Given the description of an element on the screen output the (x, y) to click on. 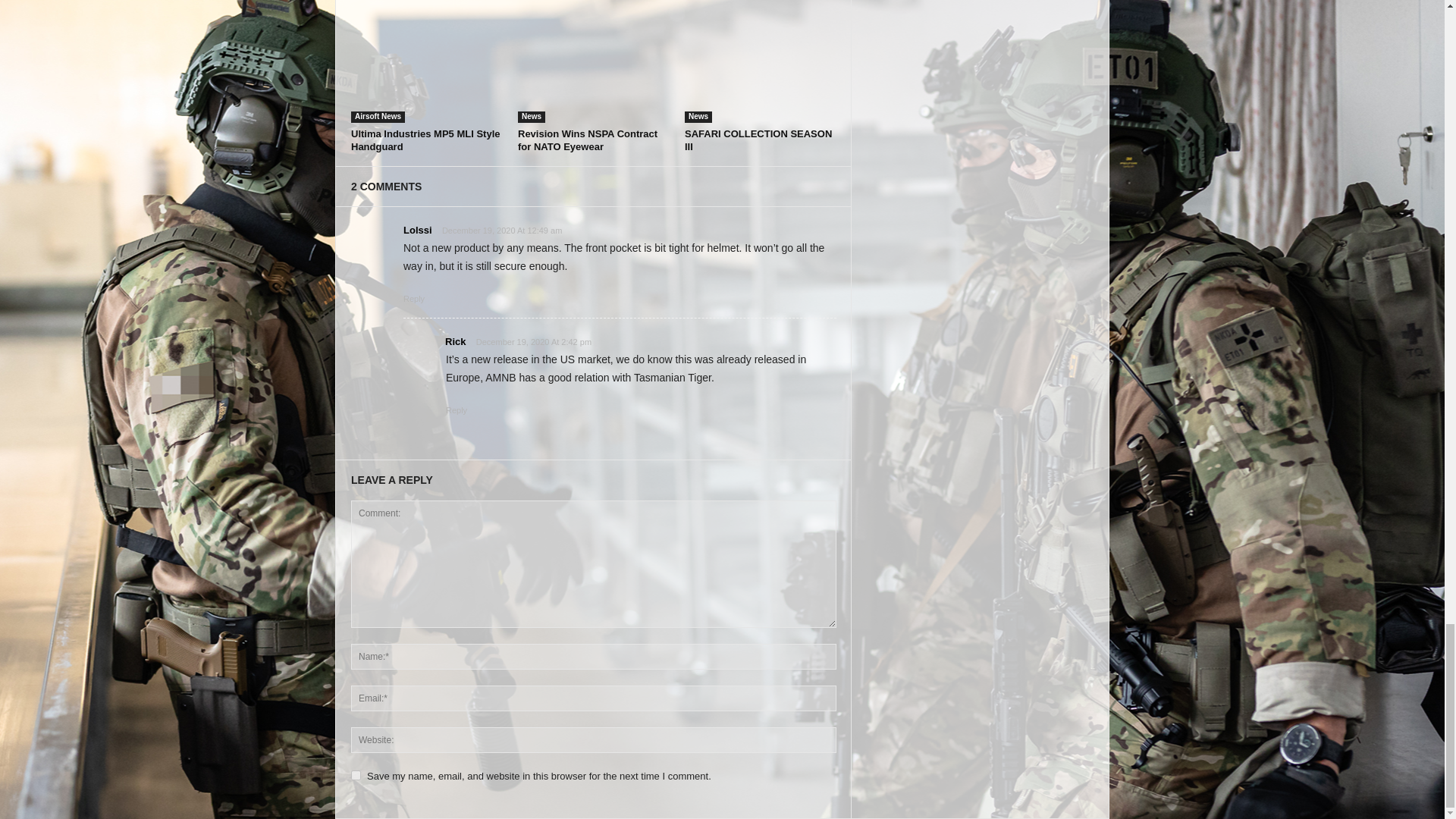
yes (355, 775)
